Given the description of an element on the screen output the (x, y) to click on. 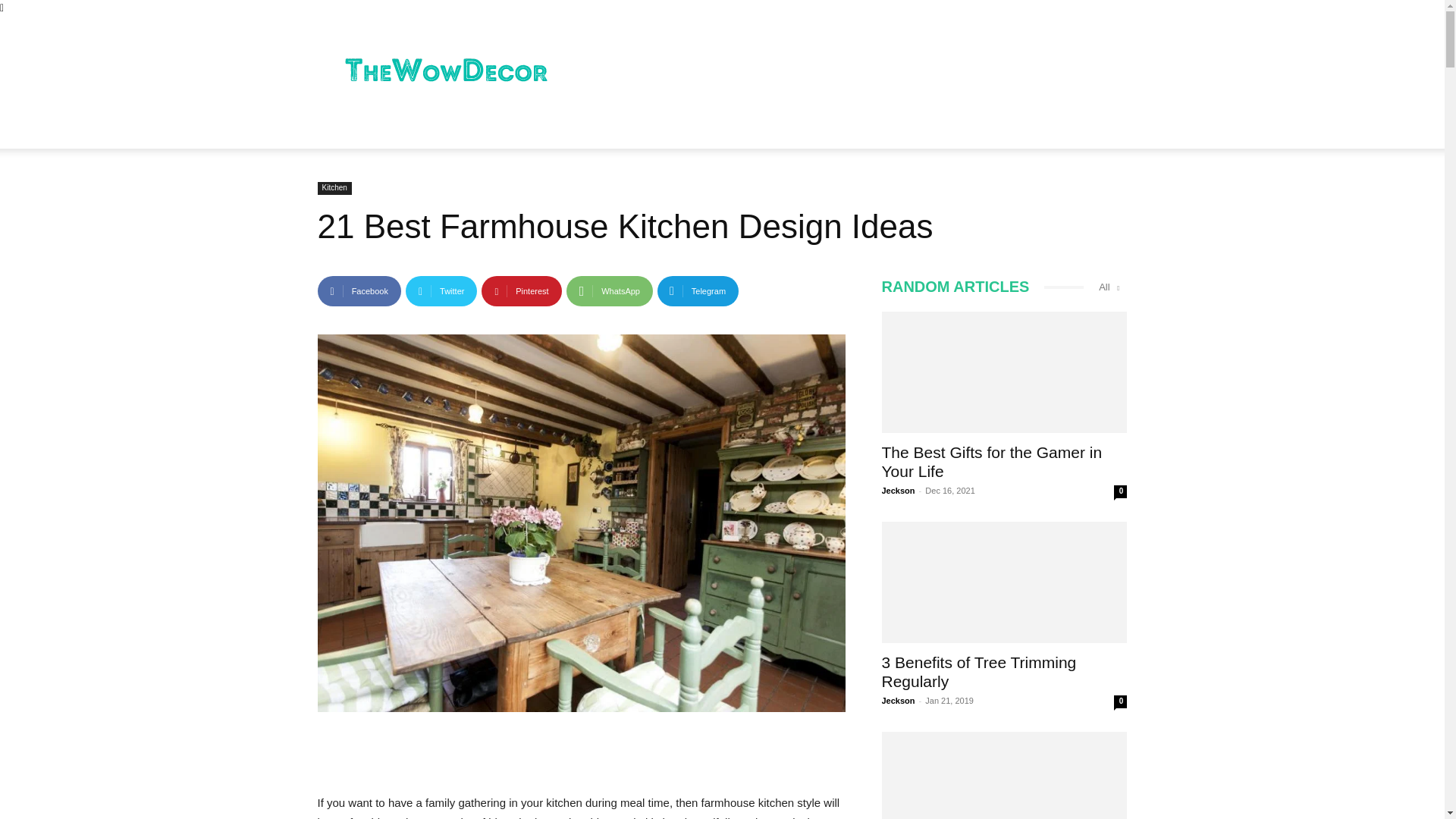
WhatsApp (609, 291)
OUTDOORS (535, 130)
Facebook (358, 291)
INDOOR (355, 130)
Pinterest (520, 291)
Advertisement (580, 754)
Telegram (698, 291)
Advertisement (850, 70)
HOME DECOR (440, 130)
Twitter (441, 291)
